Given the description of an element on the screen output the (x, y) to click on. 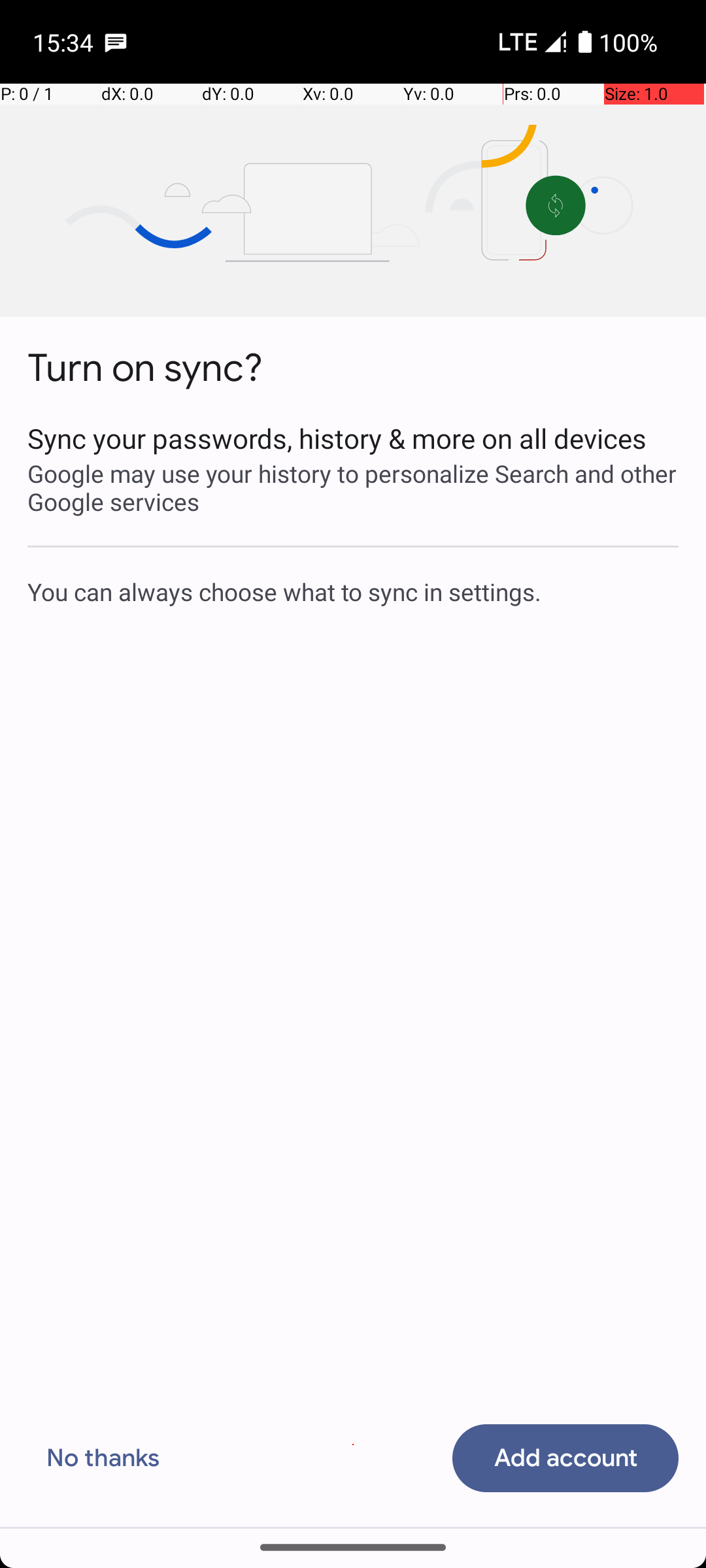
No thanks Element type: android.widget.Button (102, 1458)
Add account Element type: android.widget.Button (565, 1458)
Turn on sync? Element type: android.widget.TextView (144, 368)
Sync your passwords, history & more on all devices Element type: android.widget.TextView (352, 437)
Google may use your history to personalize Search and other Google services Element type: android.widget.TextView (352, 487)
You can always choose what to sync in settings. Element type: android.widget.TextView (352, 591)
